Given the description of an element on the screen output the (x, y) to click on. 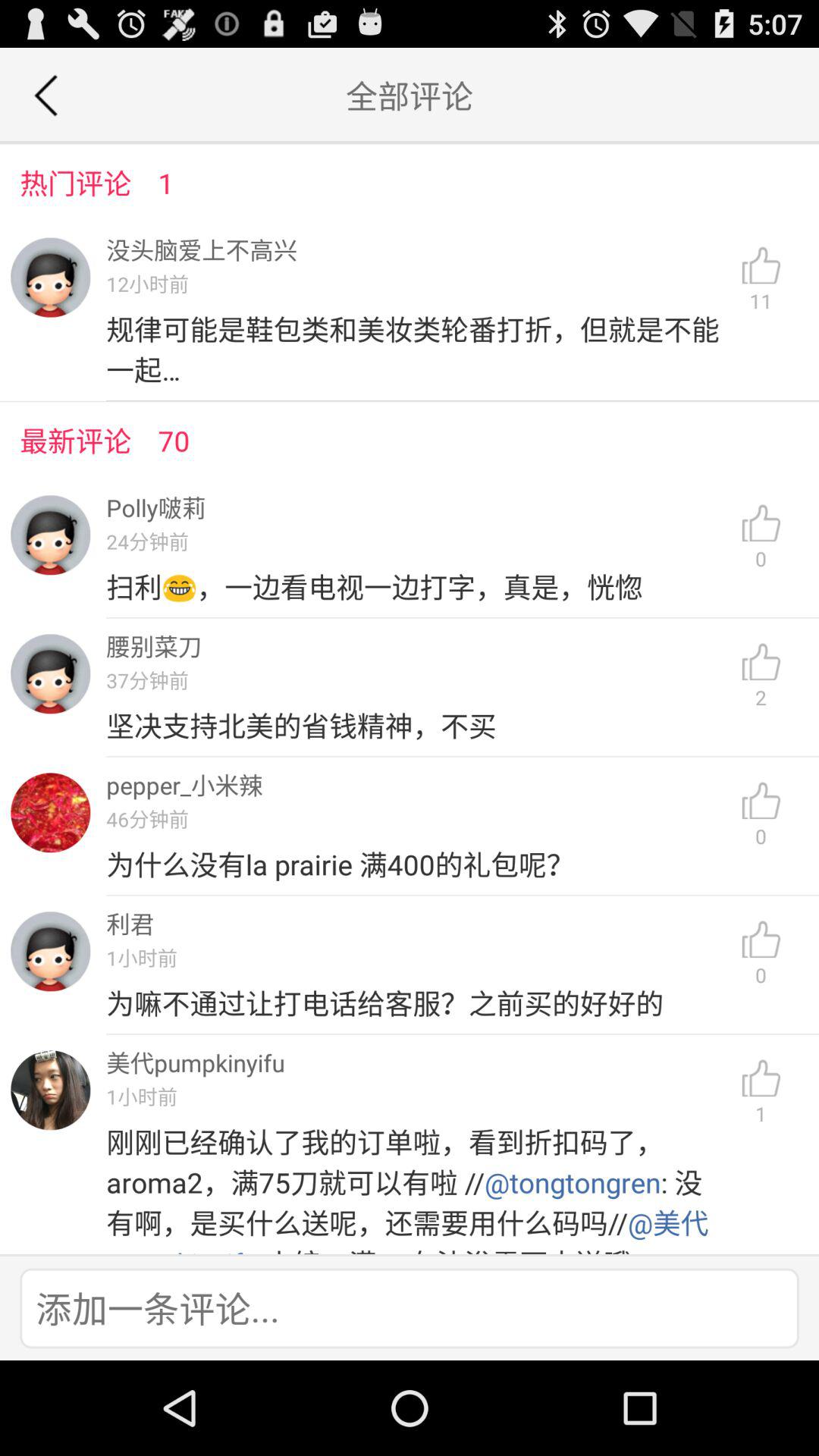
open the item next to 0 (417, 1003)
